Given the description of an element on the screen output the (x, y) to click on. 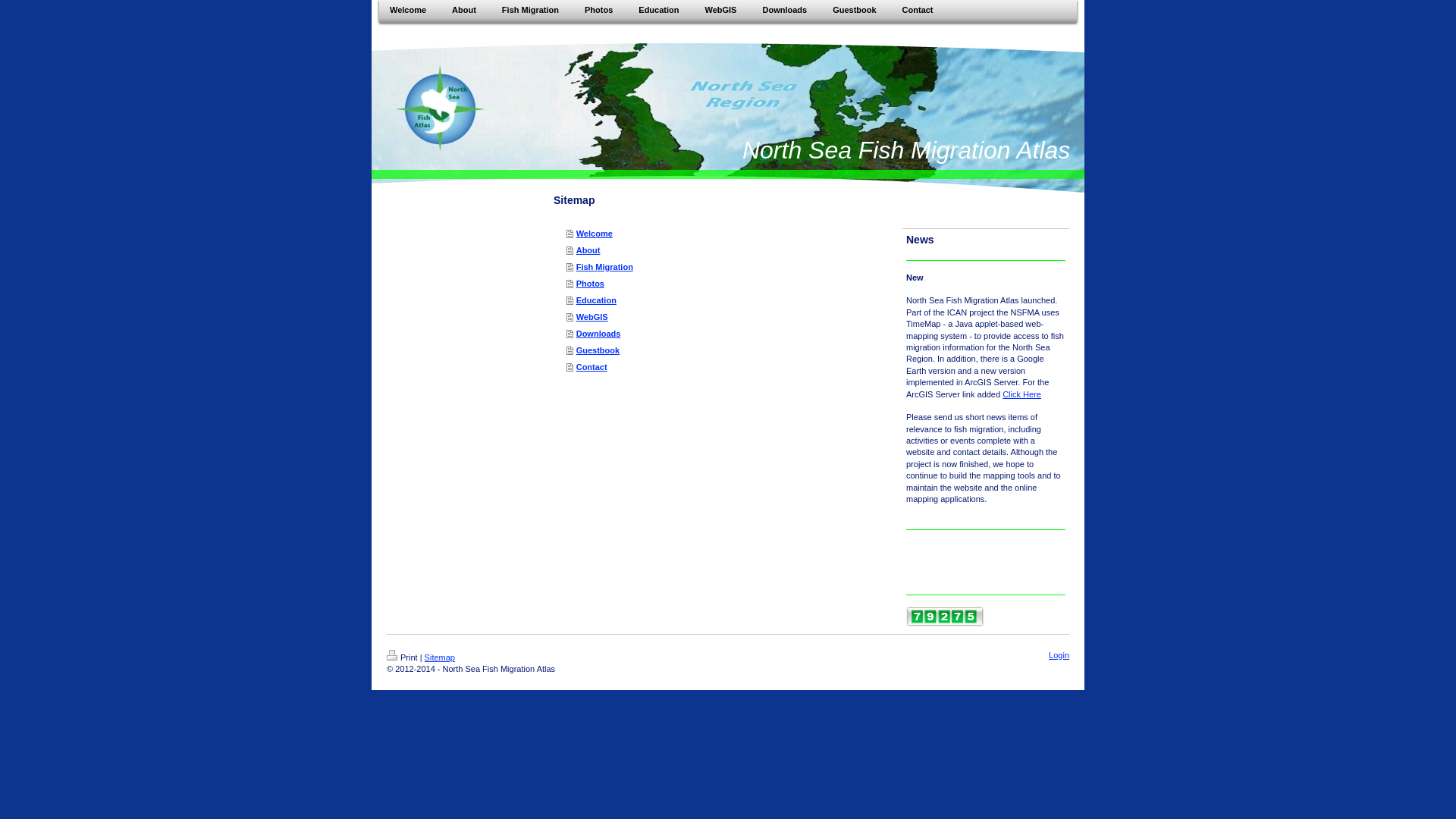
About (463, 9)
Guestbook (726, 350)
Sitemap (439, 656)
Downloads (783, 9)
Contact (917, 9)
Education (726, 299)
Click Here (1022, 393)
About (726, 249)
Education (657, 9)
Fish Migration (530, 9)
Downloads (726, 333)
Print (402, 656)
Guestbook (854, 9)
Welcome (726, 233)
North Sea Fish Migration Atlas  (906, 149)
